Given the description of an element on the screen output the (x, y) to click on. 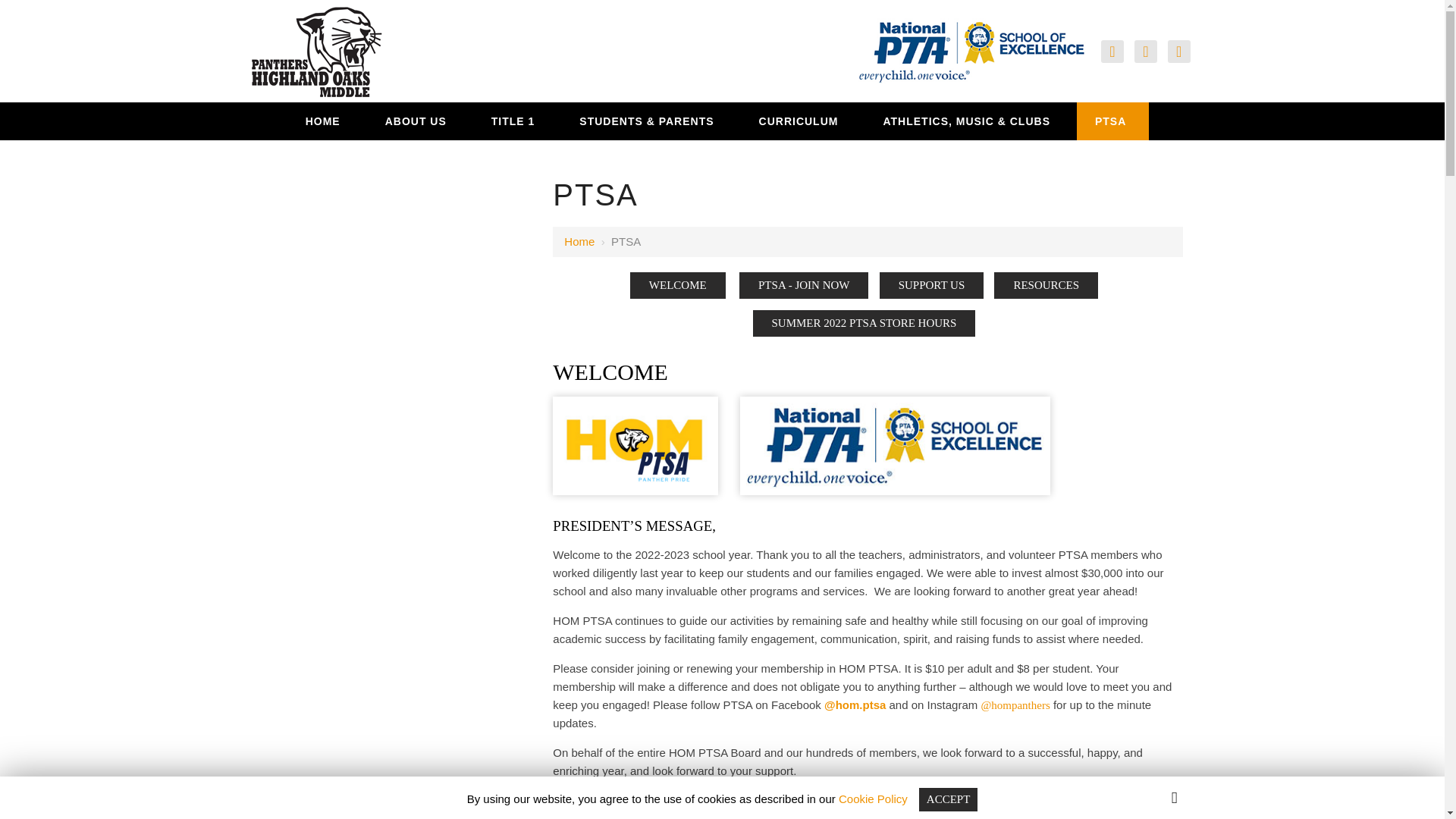
HOME (324, 121)
TITLE 1 (515, 121)
ABOUT US (417, 121)
